Given the description of an element on the screen output the (x, y) to click on. 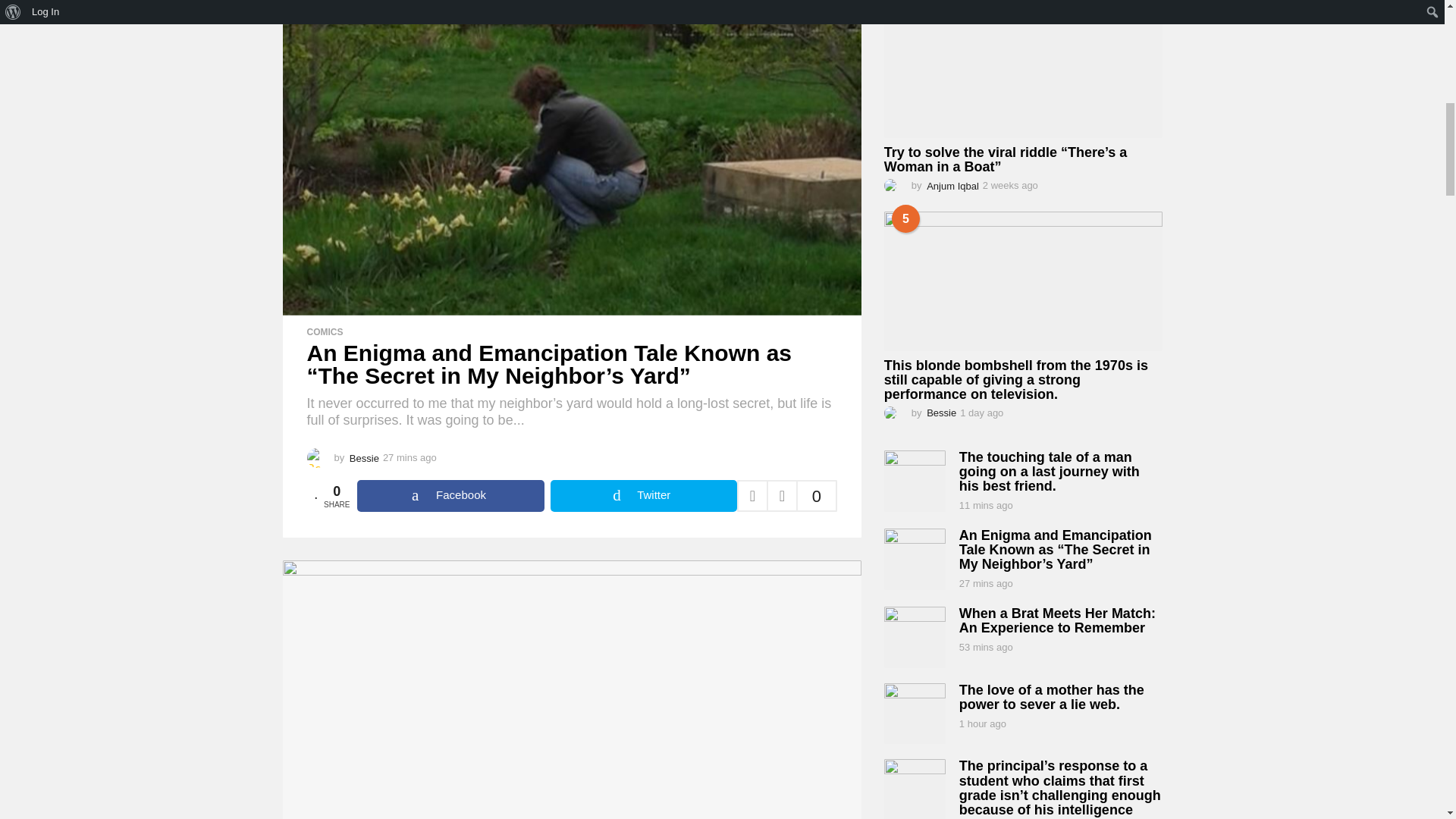
Share on Twitter (643, 495)
Share on Facebook (449, 495)
